Given the description of an element on the screen output the (x, y) to click on. 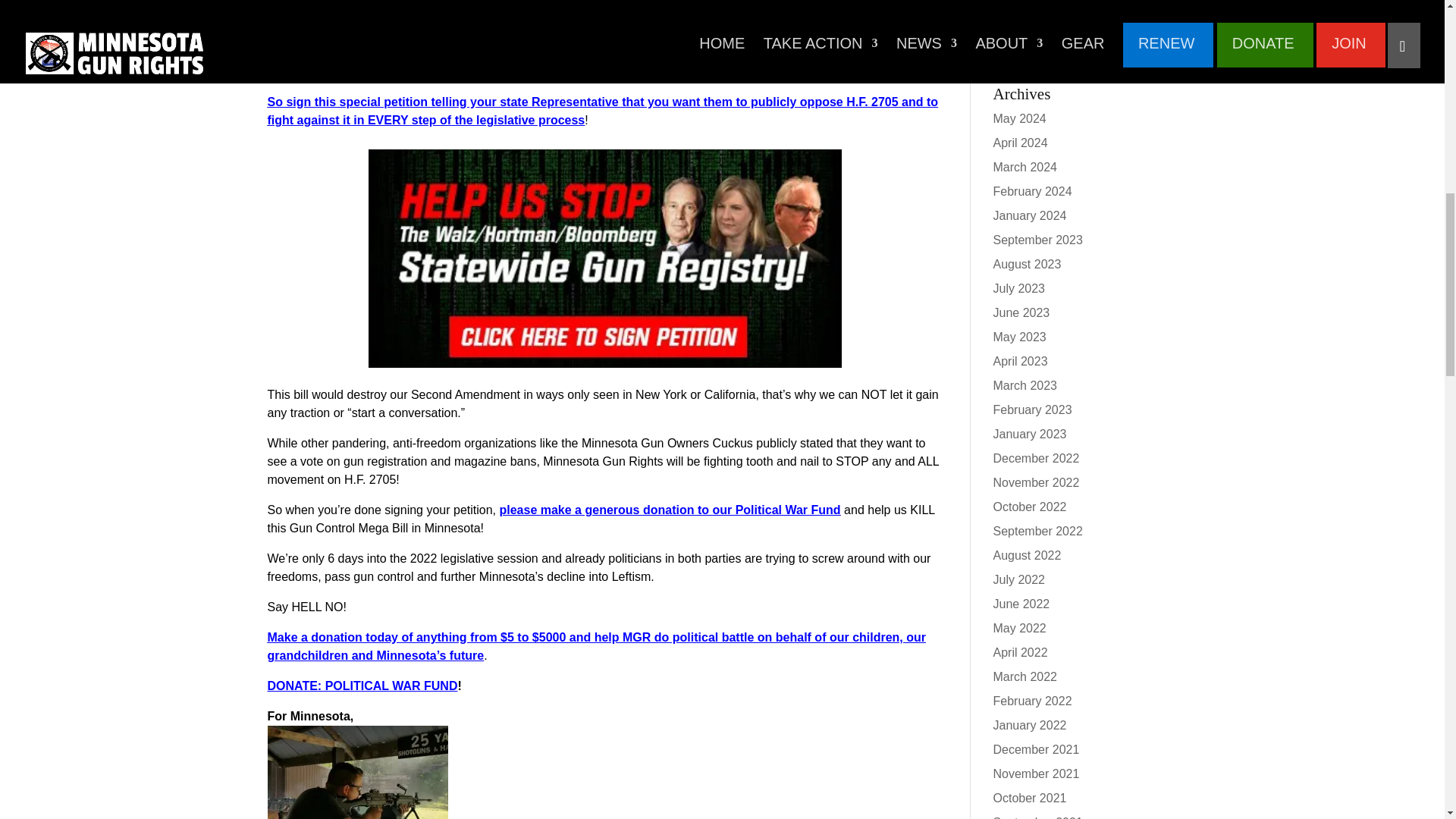
DONATE: POLITICAL WAR FUND! (363, 685)
Latest News (1025, 14)
please make a generous donation to our Political War Fund (669, 509)
